Given the description of an element on the screen output the (x, y) to click on. 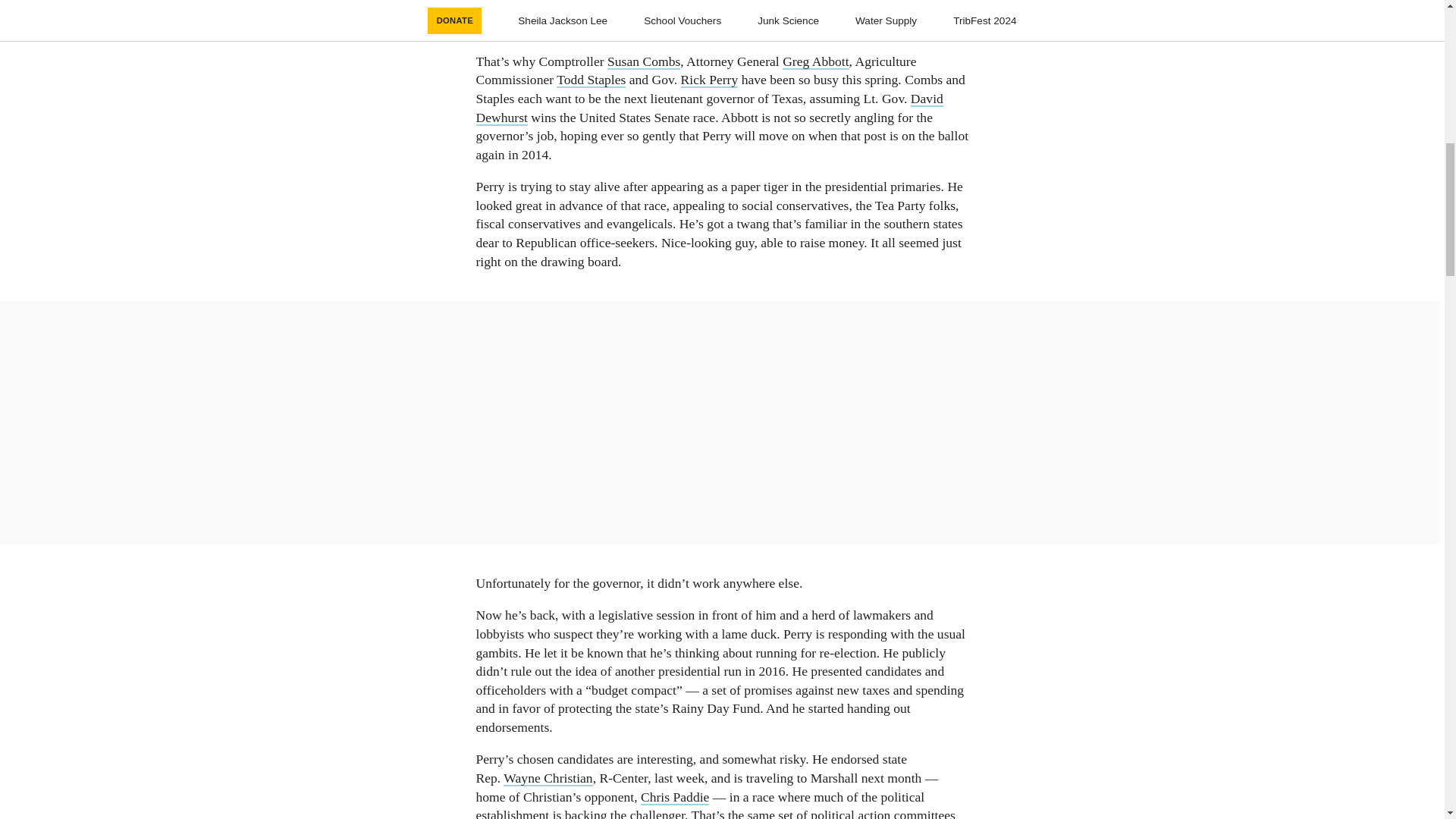
Susan Combs (643, 61)
Greg Abbott (815, 61)
